Given the description of an element on the screen output the (x, y) to click on. 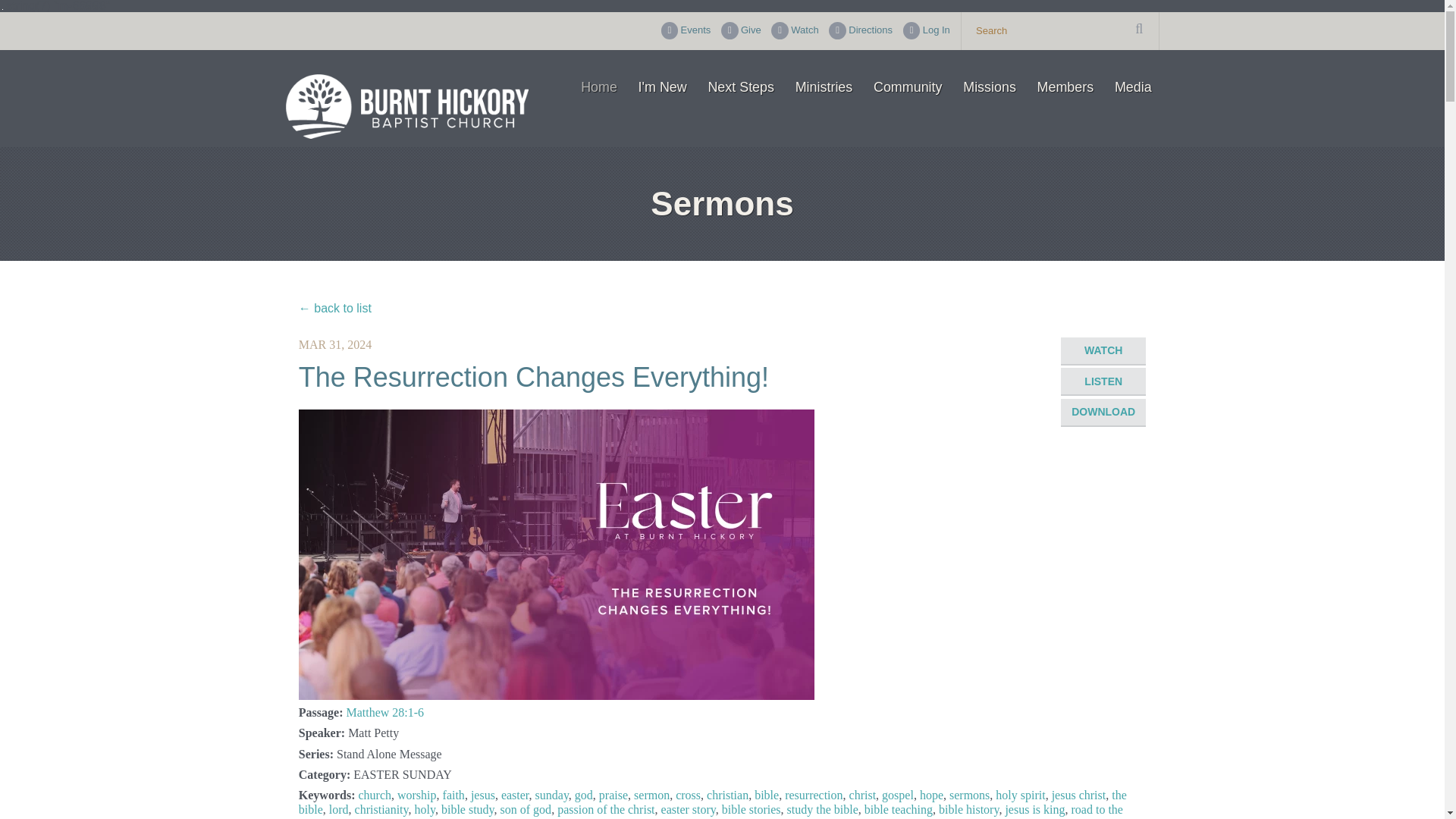
Log In (926, 30)
Watch (794, 30)
Give (740, 30)
search (1059, 30)
Events (686, 30)
Directions (860, 30)
